Given the description of an element on the screen output the (x, y) to click on. 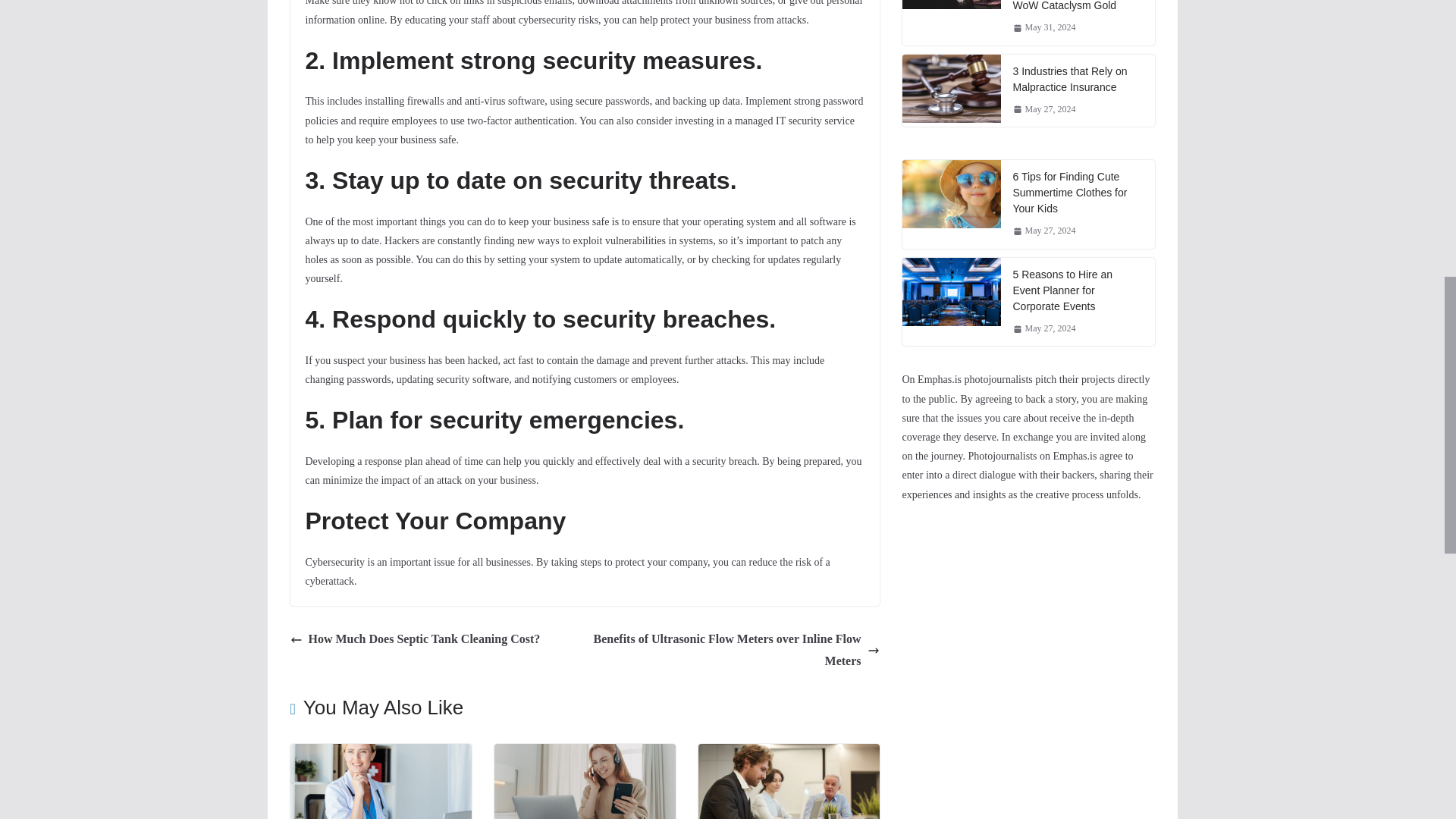
How Much Does Septic Tank Cleaning Cost? (414, 639)
Benefits of Ultrasonic Flow Meters over Inline Flow Meters (735, 650)
5 Ways to Improve Cybersecurity in Healthcare (379, 753)
